Given the description of an element on the screen output the (x, y) to click on. 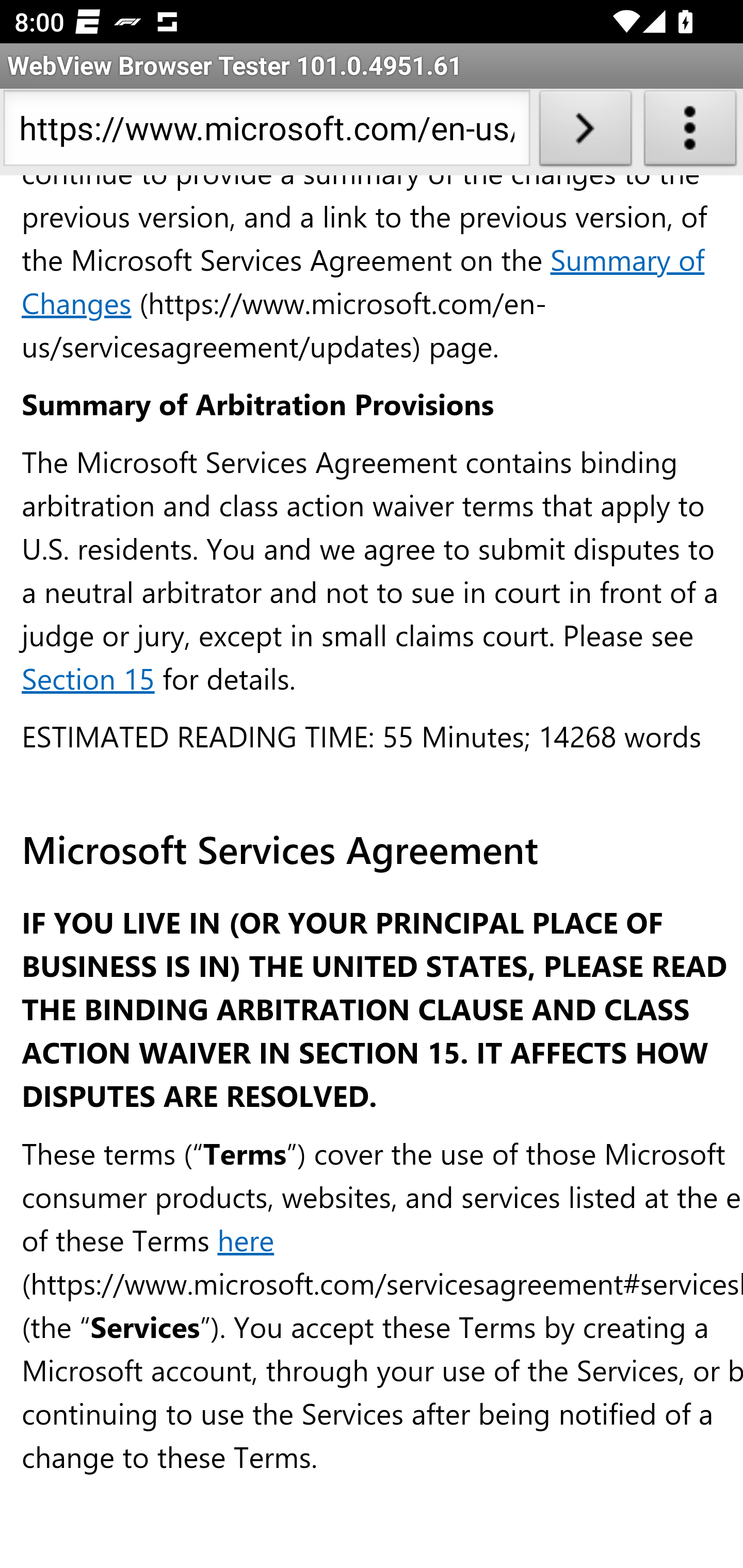
https://www.microsoft.com/en-us/servicesagreement (266, 132)
Load URL (585, 132)
About WebView (690, 132)
Summary of Changes (363, 281)
Section 15 (88, 678)
here (245, 1239)
